Given the description of an element on the screen output the (x, y) to click on. 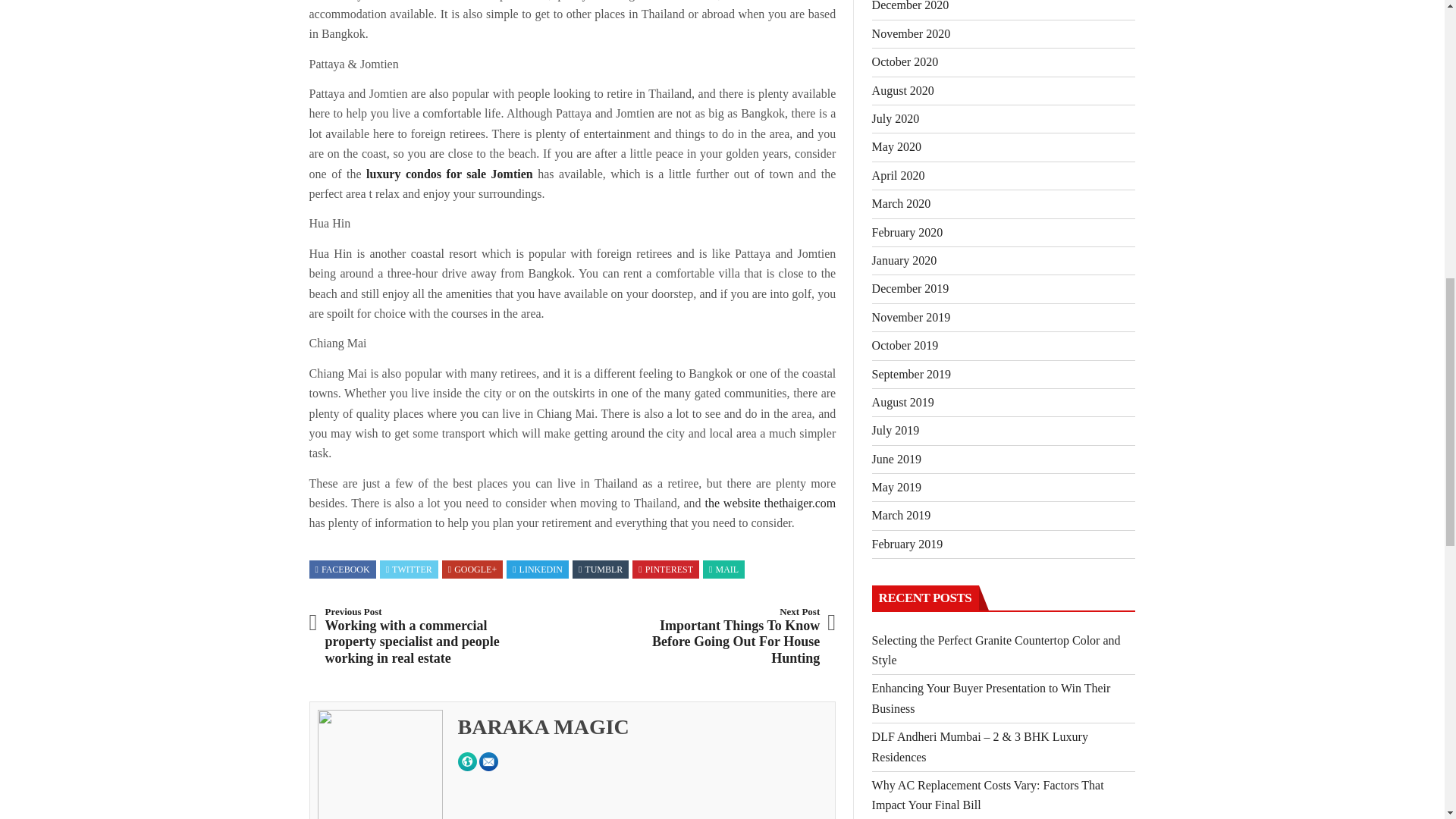
Facebook (342, 569)
Pinterest (666, 569)
the website thethaiger.com (769, 502)
FACEBOOK (342, 569)
Twitter (408, 569)
Google Plus (472, 569)
TWITTER (408, 569)
Tumblr (600, 569)
luxury condos for sale Jomtien (449, 173)
LinkedIn (537, 569)
TUMBLR (600, 569)
Mail (723, 569)
LINKEDIN (537, 569)
